Given the description of an element on the screen output the (x, y) to click on. 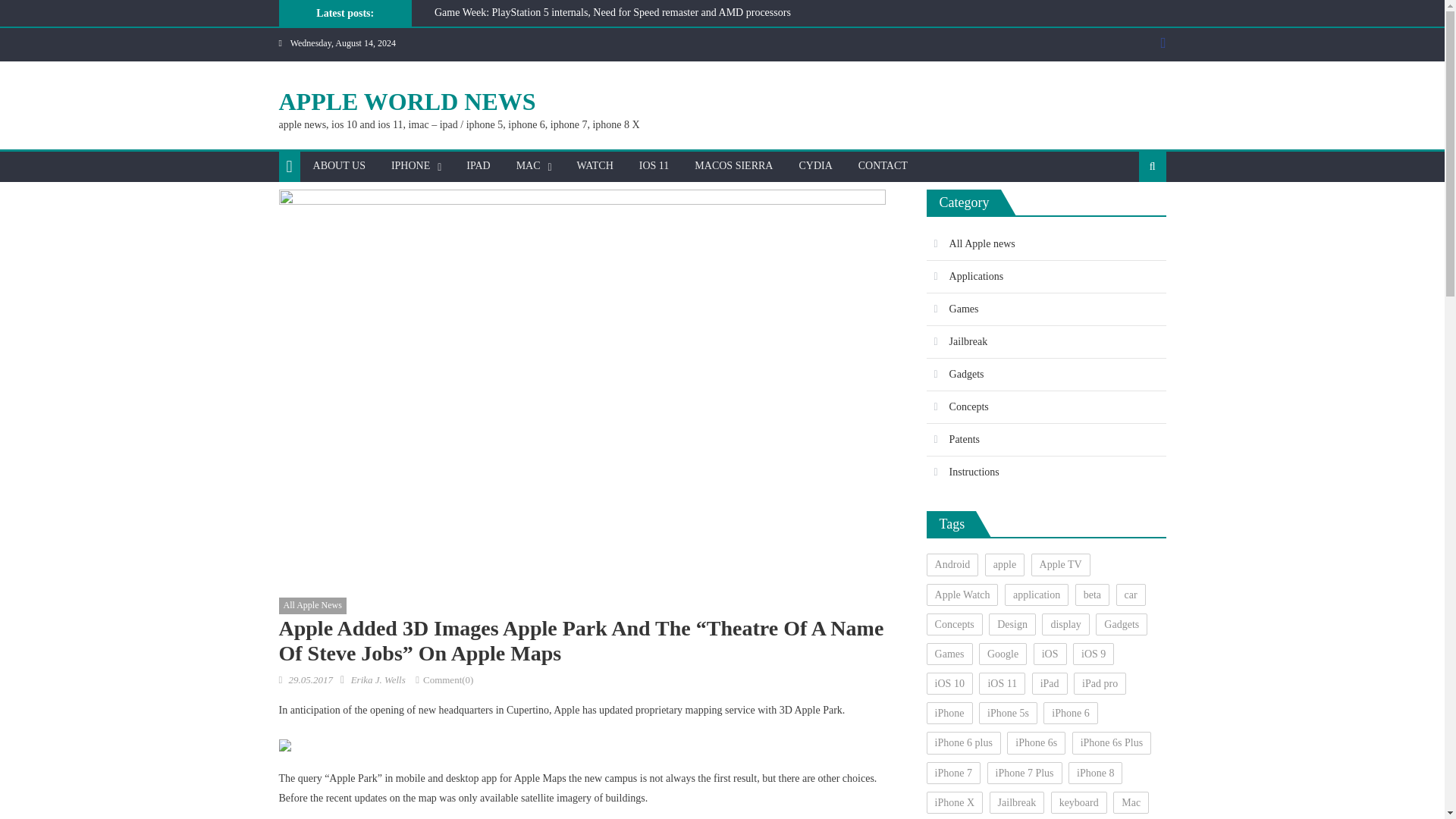
All Apple News (312, 605)
ABOUT US (339, 165)
IPHONE (410, 165)
IPAD (477, 165)
MAC (528, 165)
MACOS SIERRA (733, 165)
Skip to content (32, 9)
29.05.2017 (310, 679)
Search (1128, 216)
WATCH (595, 165)
